Given the description of an element on the screen output the (x, y) to click on. 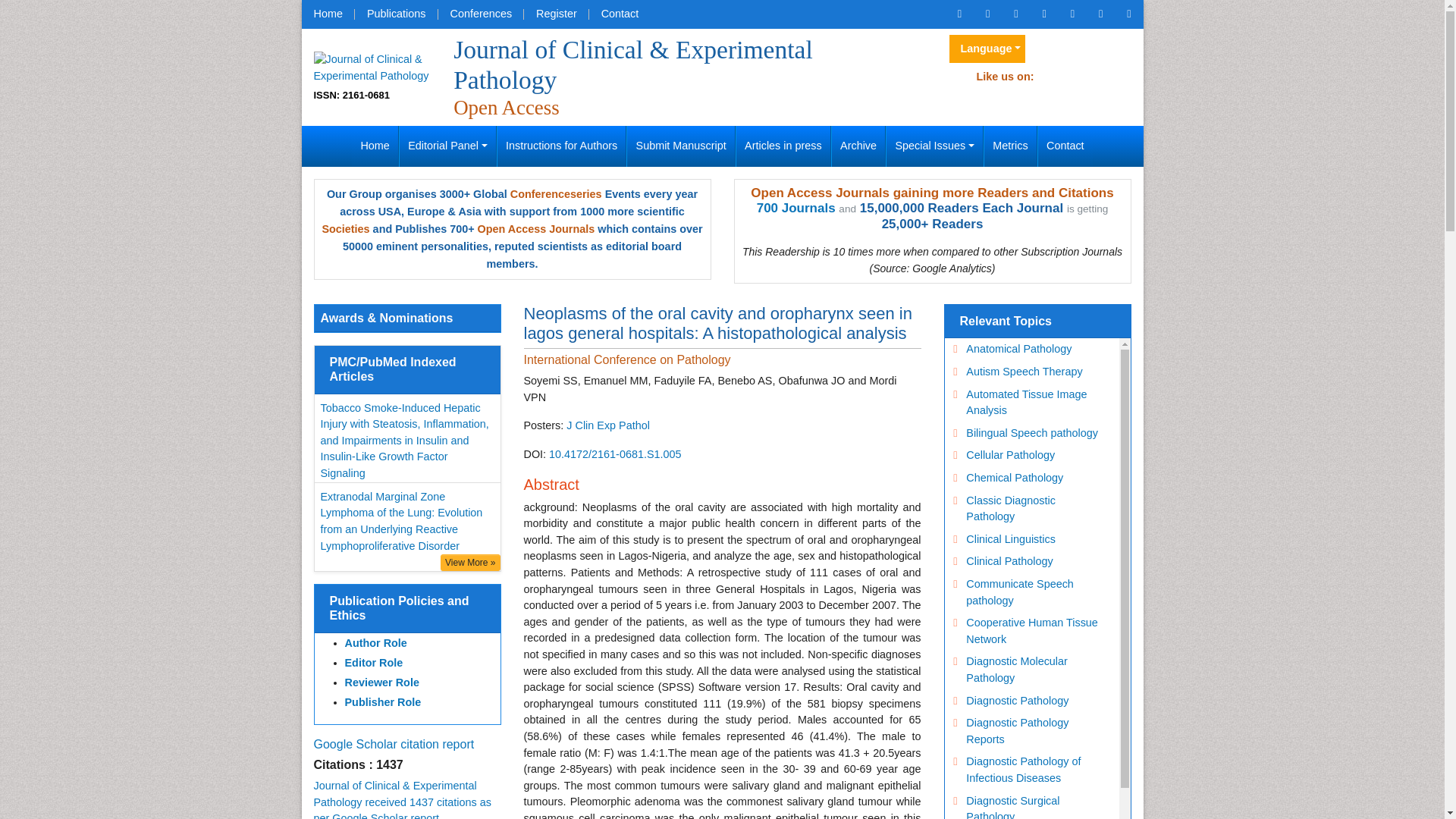
Societies (345, 228)
Omics Twitter (1015, 14)
Click here (959, 14)
Publications (396, 14)
Omics RSS (1072, 14)
Omics LinkedIn (1043, 14)
Conferences (481, 14)
Instructions for Authors (561, 146)
Contact (1065, 146)
Omics Facebook (987, 14)
